Given the description of an element on the screen output the (x, y) to click on. 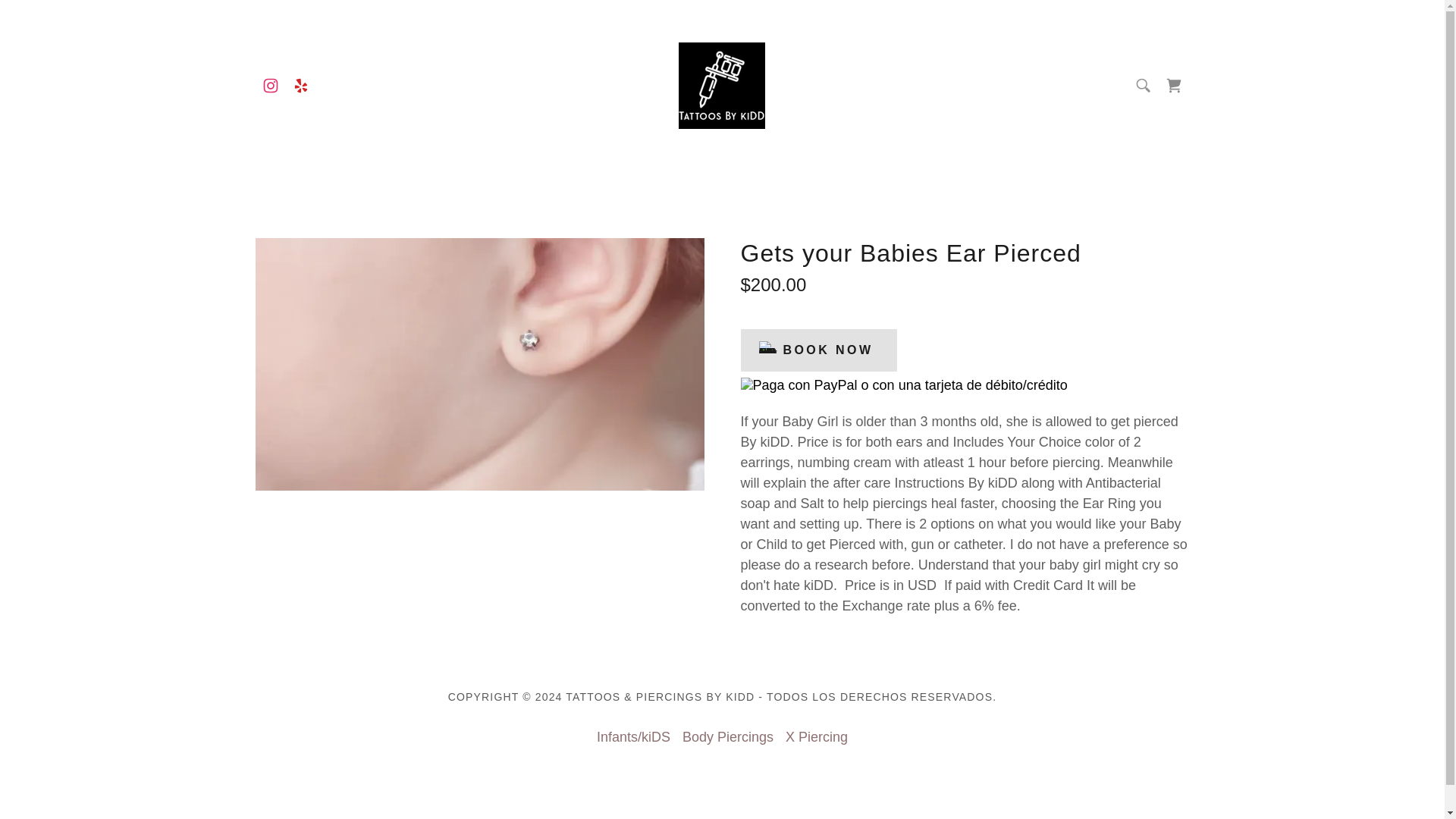
X Piercing (815, 737)
Body Piercings (727, 737)
BOOK NOW (817, 350)
